Given the description of an element on the screen output the (x, y) to click on. 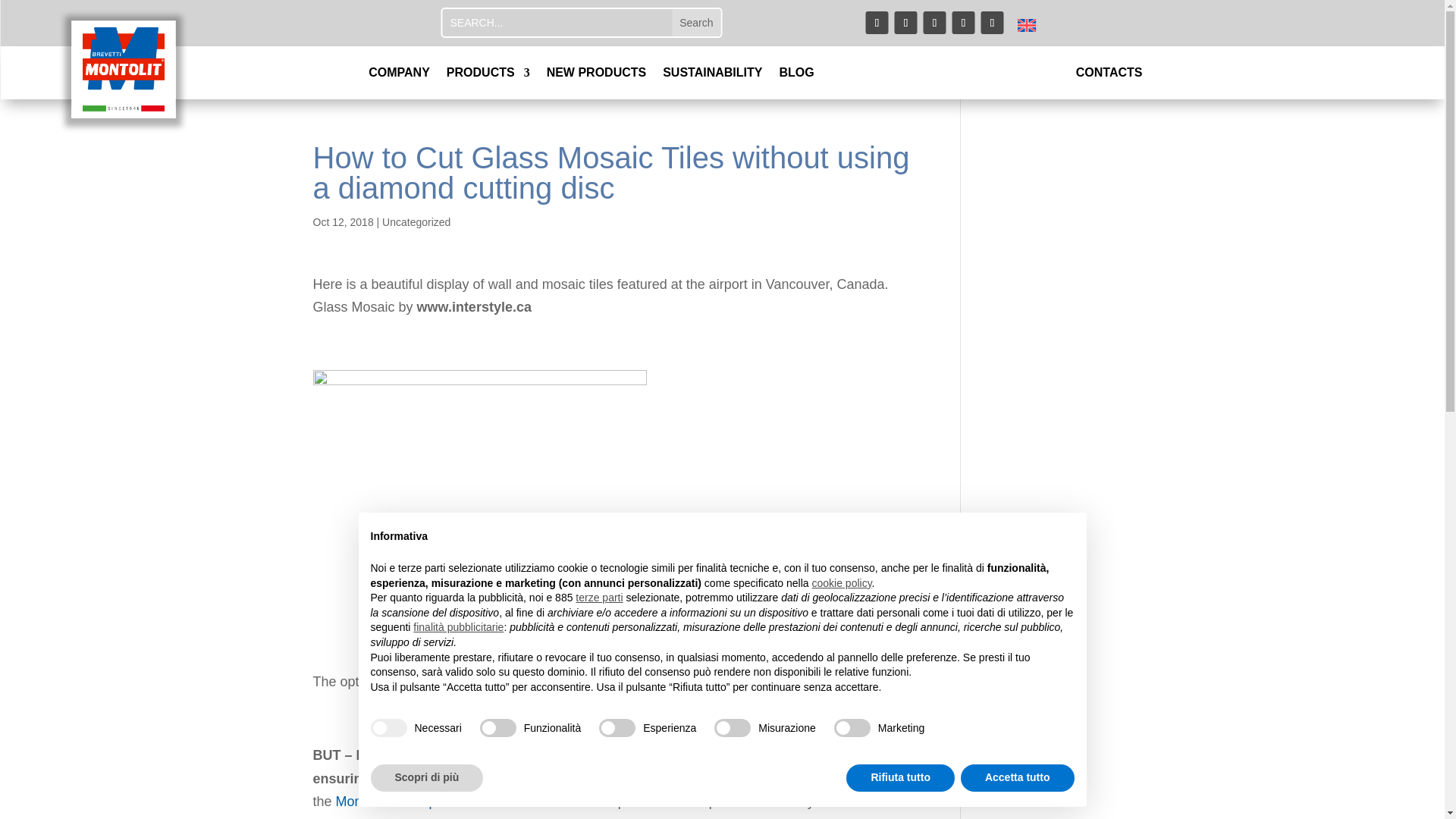
Follow on TikTok (992, 22)
CONTACTS (1108, 75)
SUSTAINABILITY (711, 75)
false (616, 728)
Follow on LinkedIn (963, 22)
Follow on Youtube (906, 22)
NEW PRODUCTS (596, 75)
BLOG (795, 75)
Search (695, 22)
false (732, 728)
